Given the description of an element on the screen output the (x, y) to click on. 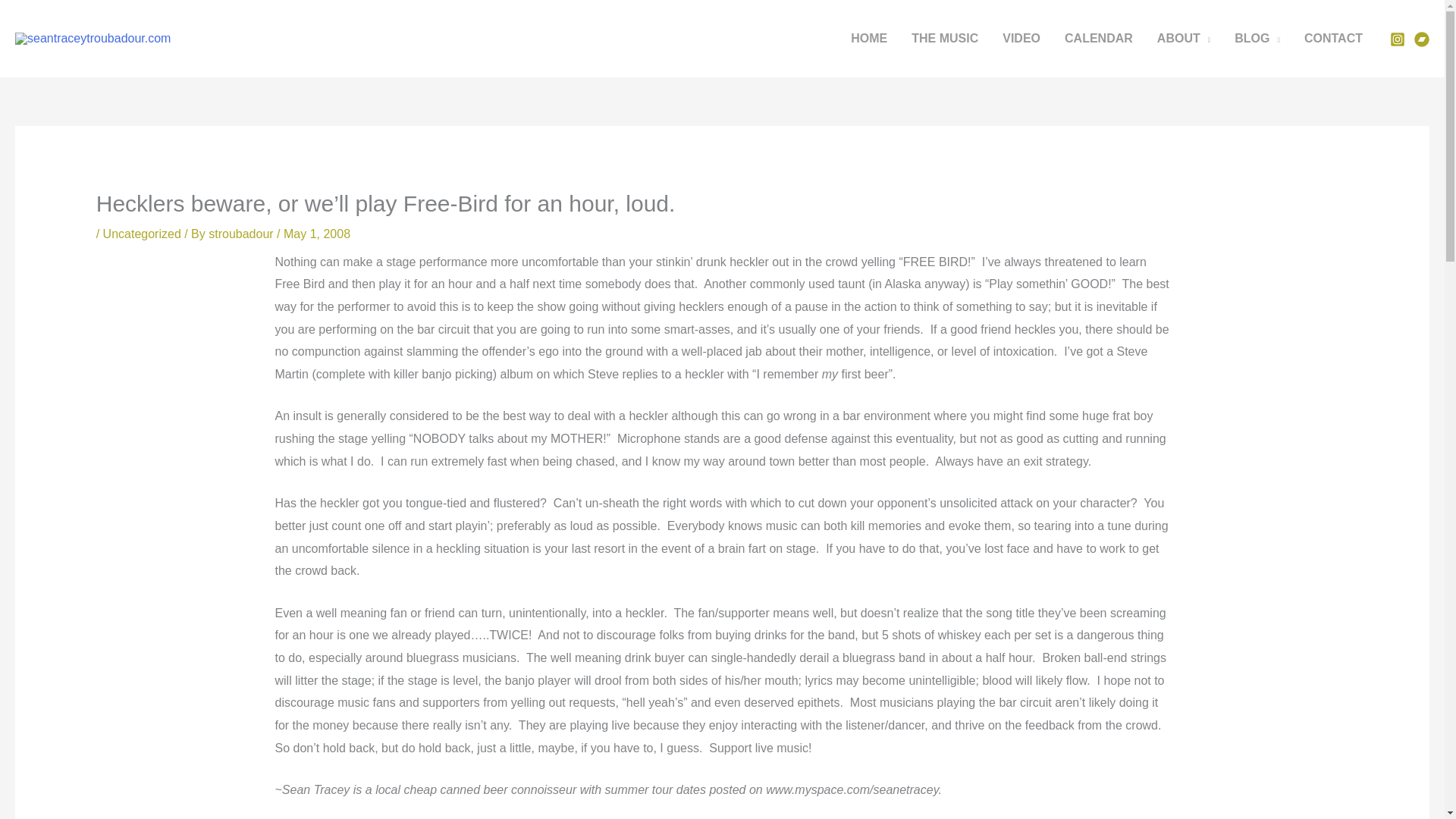
VIDEO (1021, 38)
CONTACT (1333, 38)
BLOG (1257, 38)
HOME (868, 38)
CALENDAR (1098, 38)
THE MUSIC (944, 38)
stroubadour (242, 233)
Uncategorized (141, 233)
ABOUT (1183, 38)
View all posts by stroubadour (242, 233)
